Given the description of an element on the screen output the (x, y) to click on. 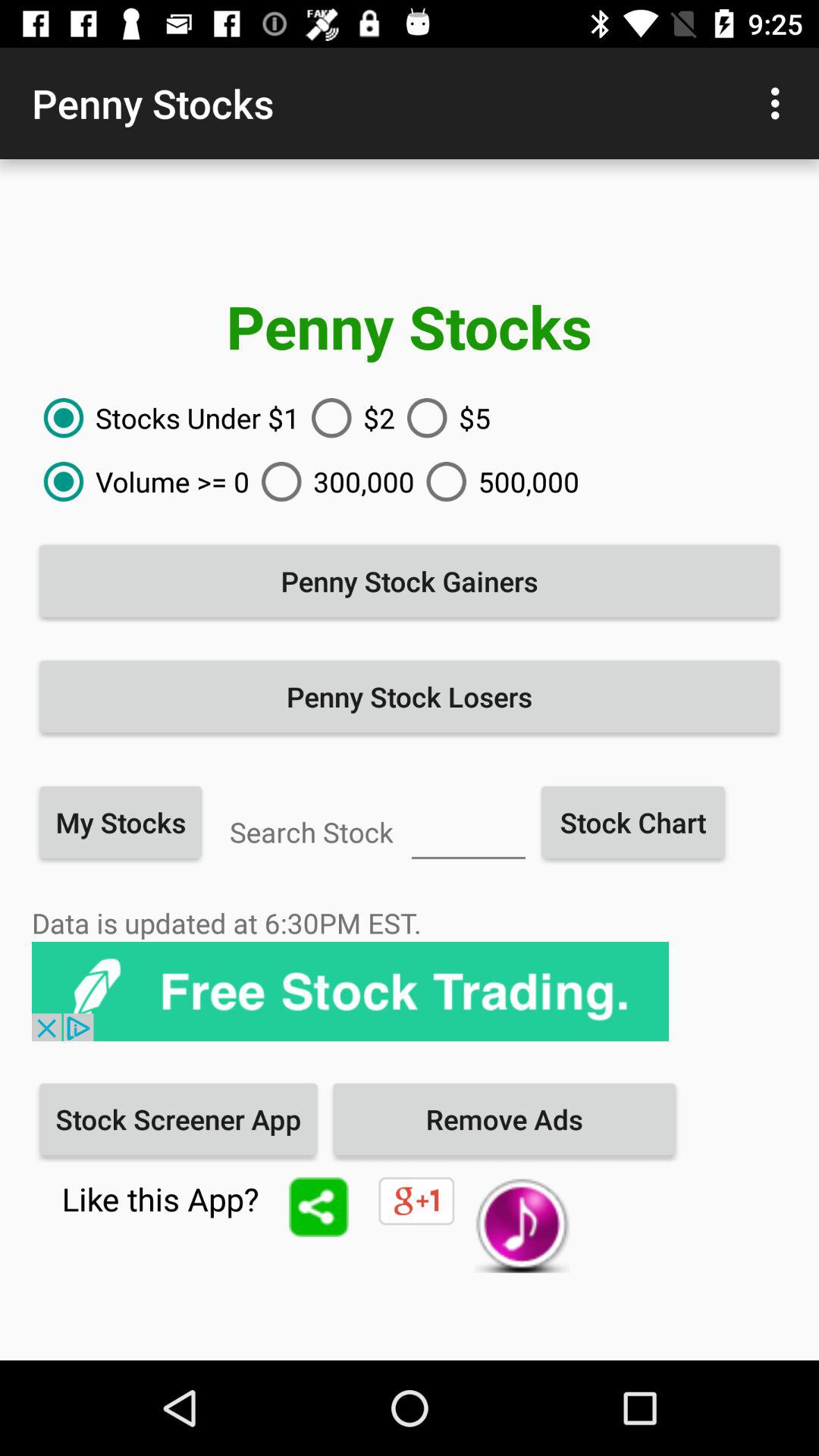
share the app (318, 1207)
